Given the description of an element on the screen output the (x, y) to click on. 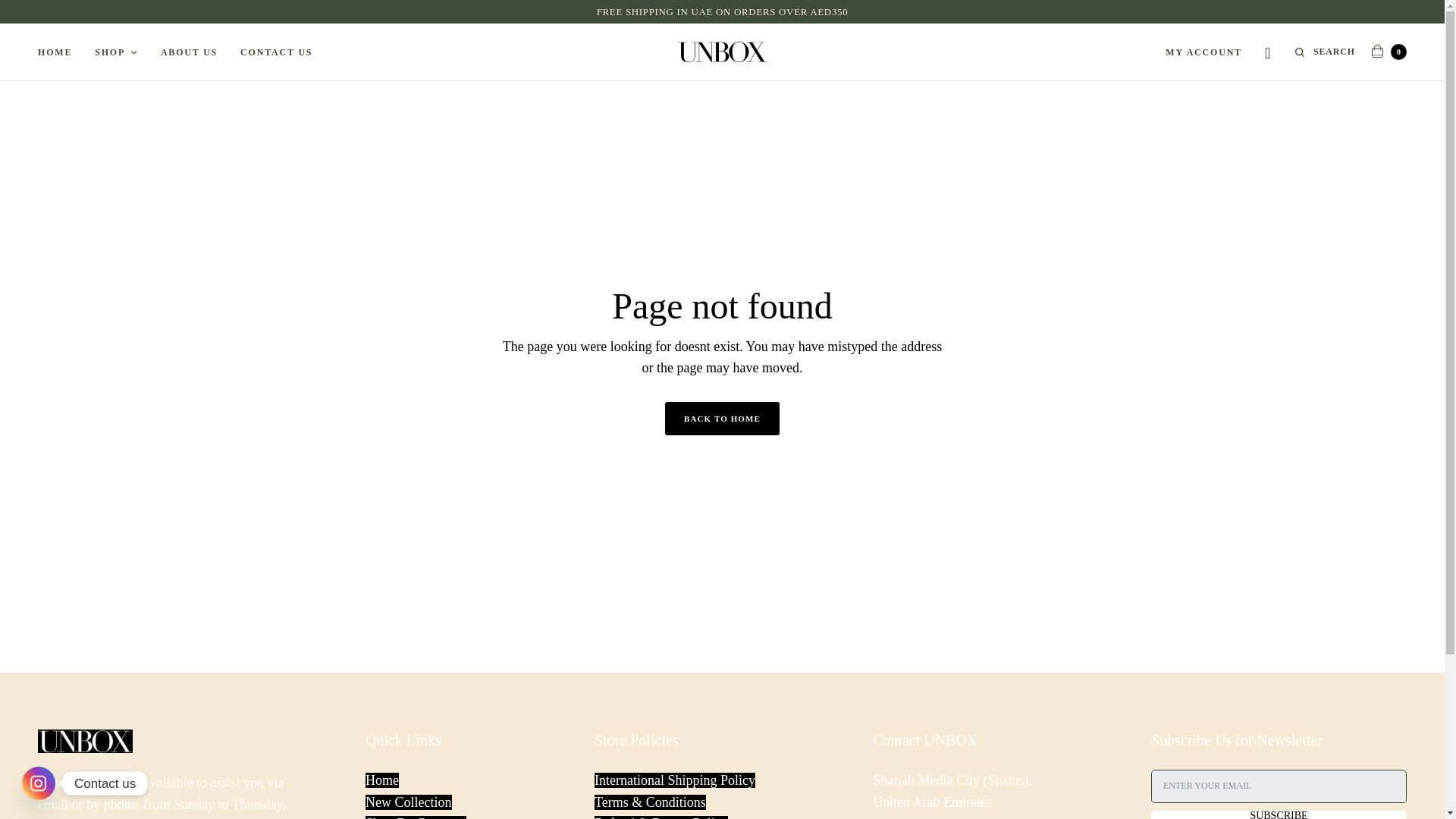
CONTACT US (276, 51)
Home (381, 780)
BACK TO HOME (721, 418)
SHOP (116, 51)
UNBOX Basics (722, 51)
HOME (54, 51)
MY ACCOUNT (1203, 51)
SUBSCRIBE (1278, 814)
Shop By Category (415, 817)
International Shipping Policy (674, 780)
ABOUT US (188, 51)
New Collection (408, 801)
